Given the description of an element on the screen output the (x, y) to click on. 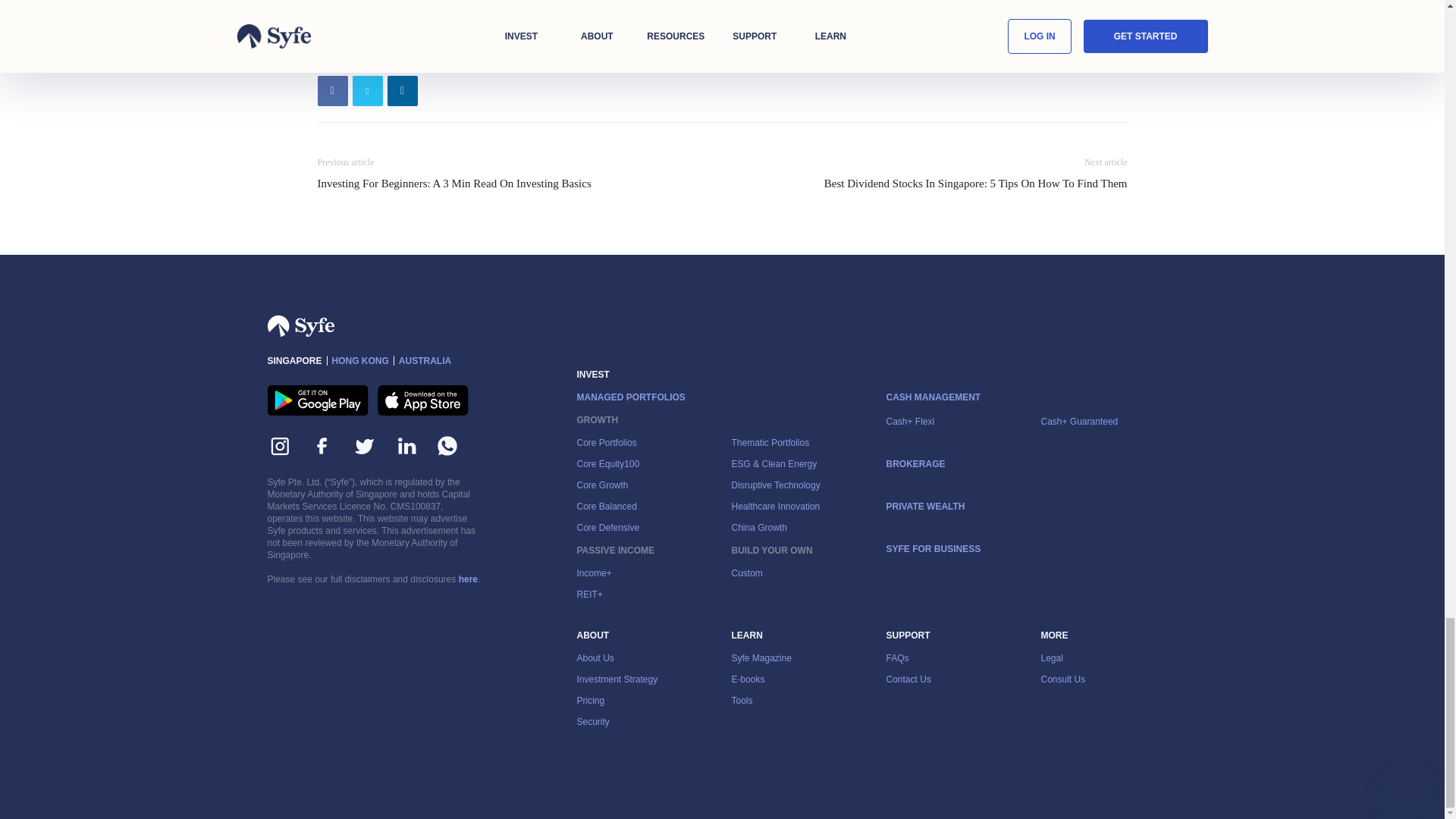
Linkedin (401, 91)
Facebook (332, 91)
Twitter (366, 91)
